Given the description of an element on the screen output the (x, y) to click on. 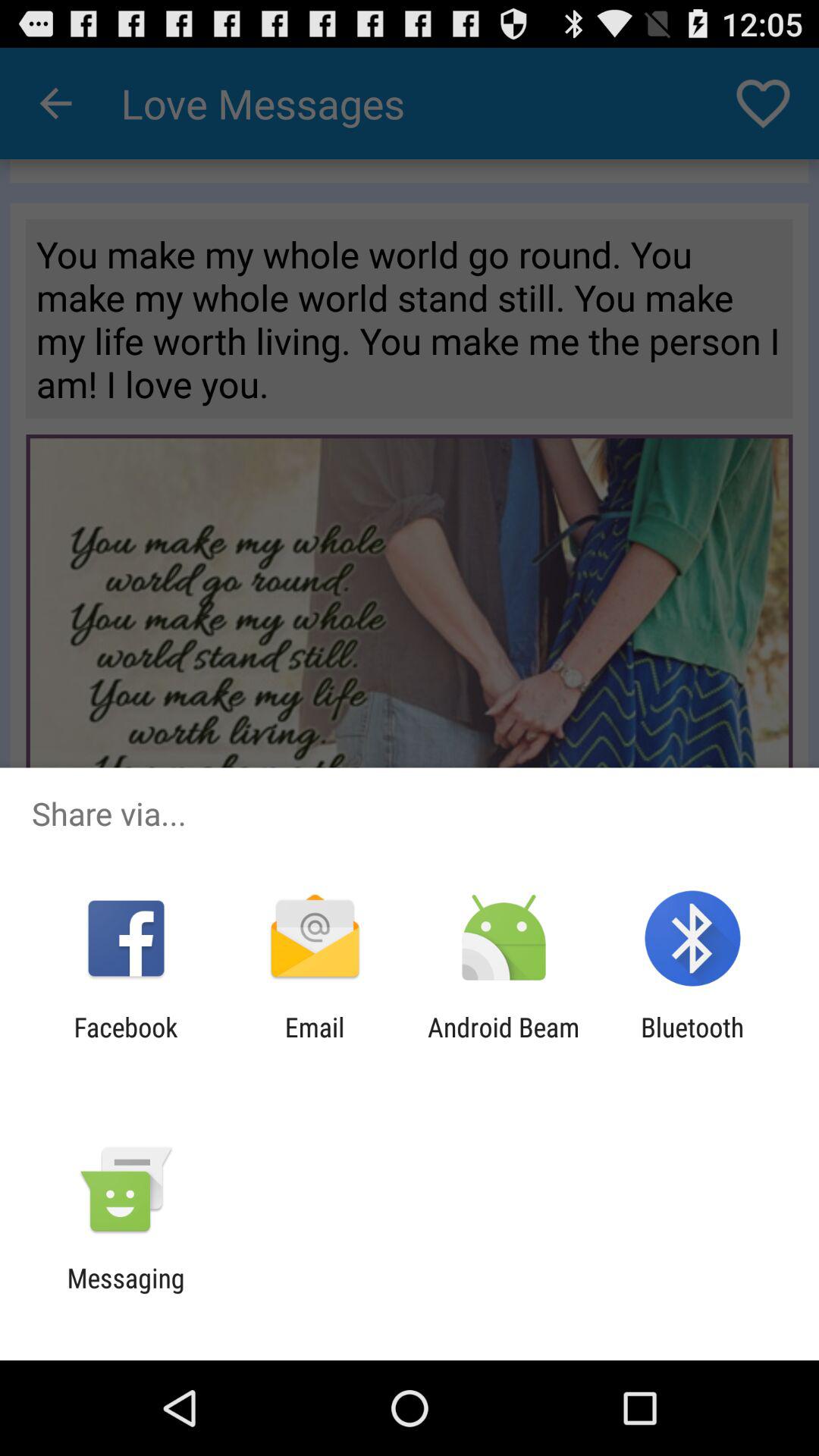
jump to the facebook icon (125, 1042)
